Given the description of an element on the screen output the (x, y) to click on. 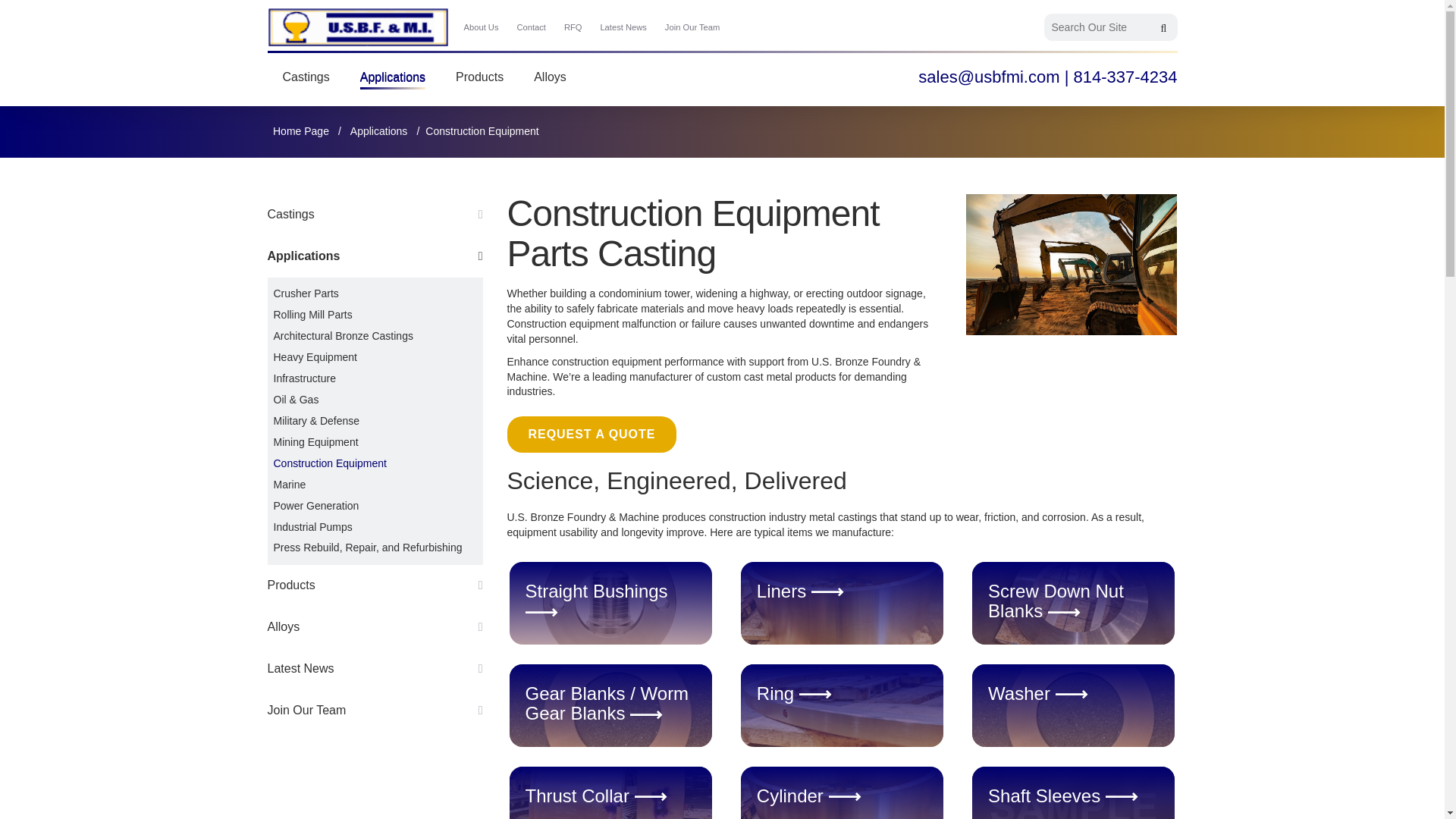
Products (479, 76)
Castings (304, 76)
About Us (481, 26)
Join Our Team (692, 26)
Contact (531, 26)
RFQ (573, 26)
Applications (393, 76)
Latest News (622, 26)
